Given the description of an element on the screen output the (x, y) to click on. 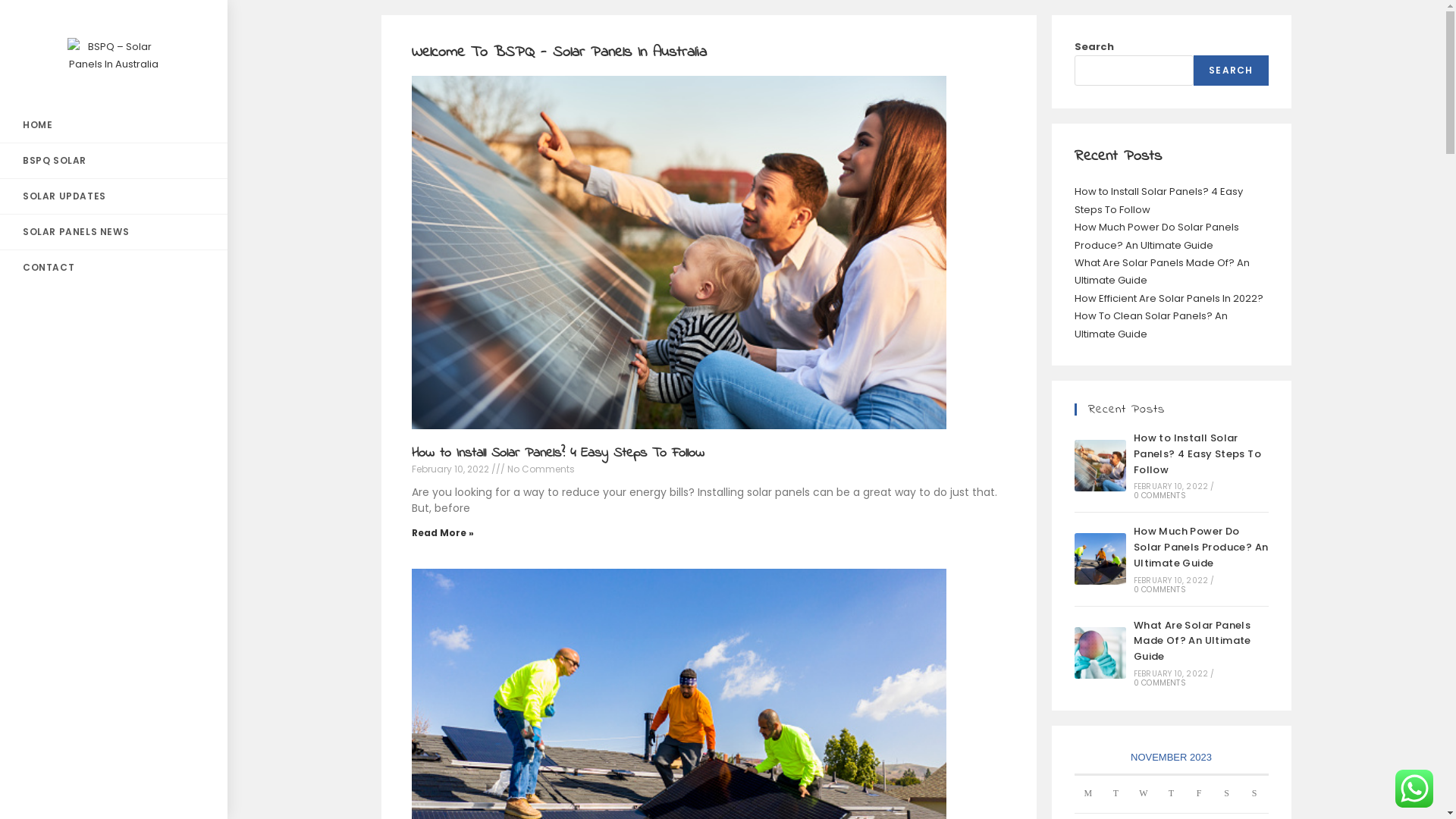
How to Install Solar Panels? 4 Easy Steps To Follow Element type: text (1197, 453)
How to Install Solar Panels? 4 Easy Steps To Follow Element type: text (1157, 200)
0 COMMENTS Element type: text (1159, 682)
What Are Solar Panels Made Of? An Ultimate Guide Element type: hover (1099, 652)
How Much Power Do Solar Panels Produce? An Ultimate Guide Element type: hover (1099, 558)
How To Clean Solar Panels? An Ultimate Guide Element type: text (1149, 324)
SOLAR UPDATES Element type: text (113, 195)
What Are Solar Panels Made Of? An Ultimate Guide Element type: text (1192, 641)
How Much Power Do Solar Panels Produce? An Ultimate Guide Element type: text (1155, 235)
BSPQ SOLAR Element type: text (113, 160)
CONTACT Element type: text (113, 267)
How Efficient Are Solar Panels In 2022? Element type: text (1167, 298)
HOME Element type: text (113, 124)
Home 34 Element type: hover (673, 249)
How Much Power Do Solar Panels Produce? An Ultimate Guide Element type: text (1200, 547)
How to Install Solar Panels? 4 Easy Steps To Follow Element type: hover (1099, 465)
SEARCH Element type: text (1230, 70)
SOLAR PANELS NEWS Element type: text (113, 231)
What Are Solar Panels Made Of? An Ultimate Guide Element type: text (1160, 271)
0 COMMENTS Element type: text (1159, 495)
0 COMMENTS Element type: text (1159, 589)
How to Install Solar Panels? 4 Easy Steps To Follow Element type: text (557, 453)
